Given the description of an element on the screen output the (x, y) to click on. 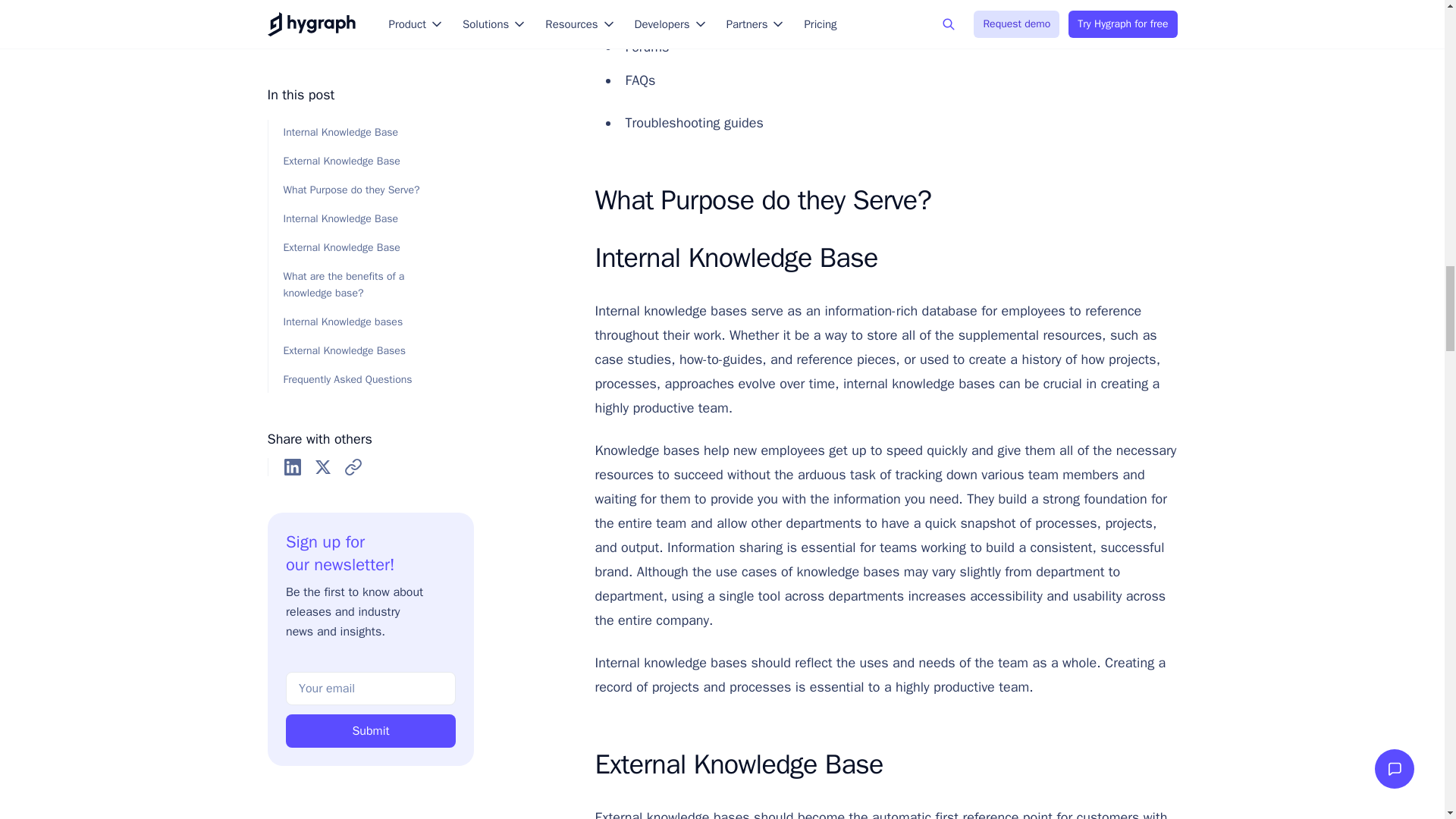
What Purpose do they Serve? (879, 200)
Internal Knowledge Base (879, 257)
External Knowledge Base (879, 764)
